Given the description of an element on the screen output the (x, y) to click on. 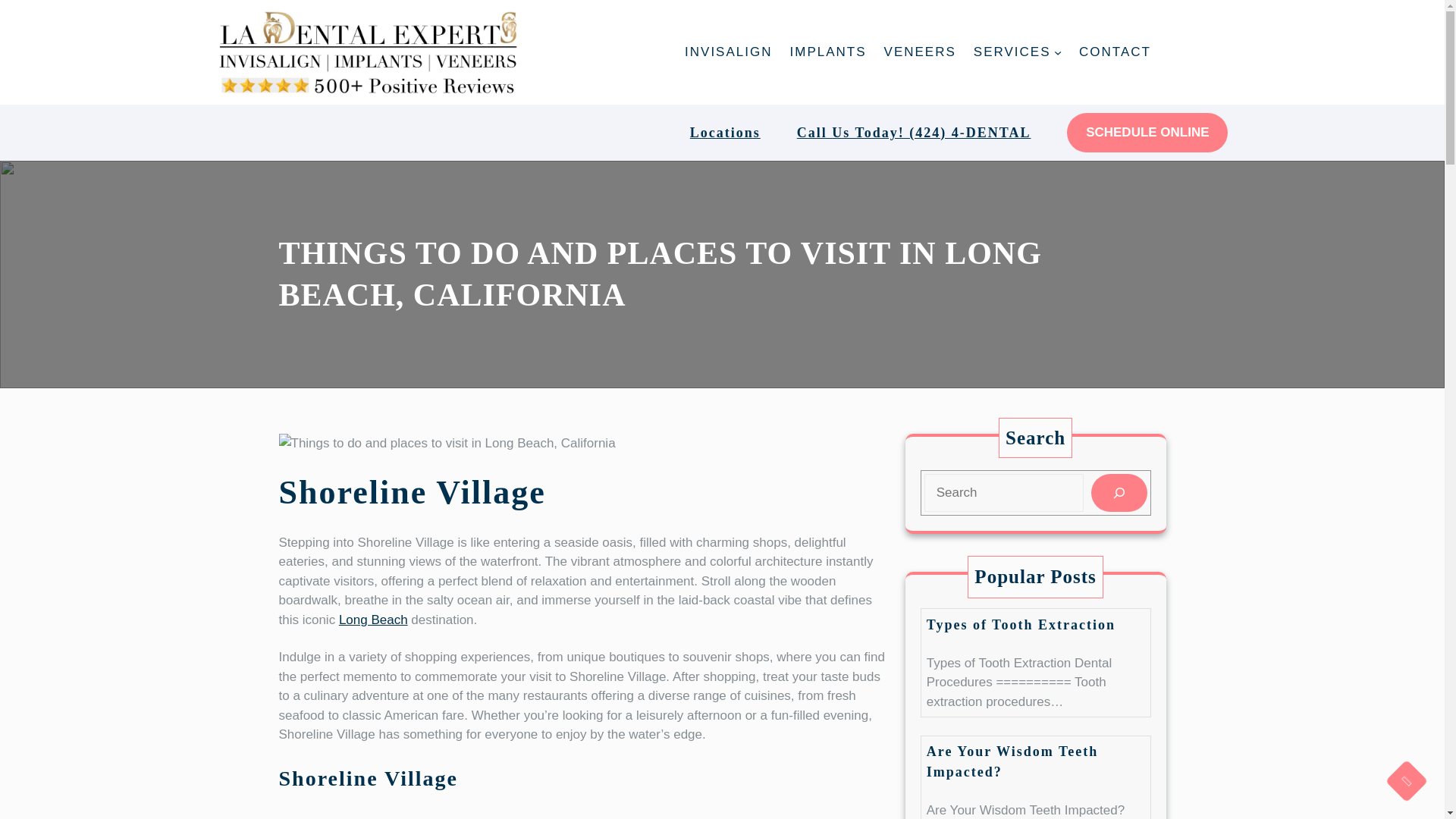
INVISALIGN (727, 52)
SERVICES (1012, 52)
IMPLANTS (828, 52)
VENEERS (919, 52)
